Given the description of an element on the screen output the (x, y) to click on. 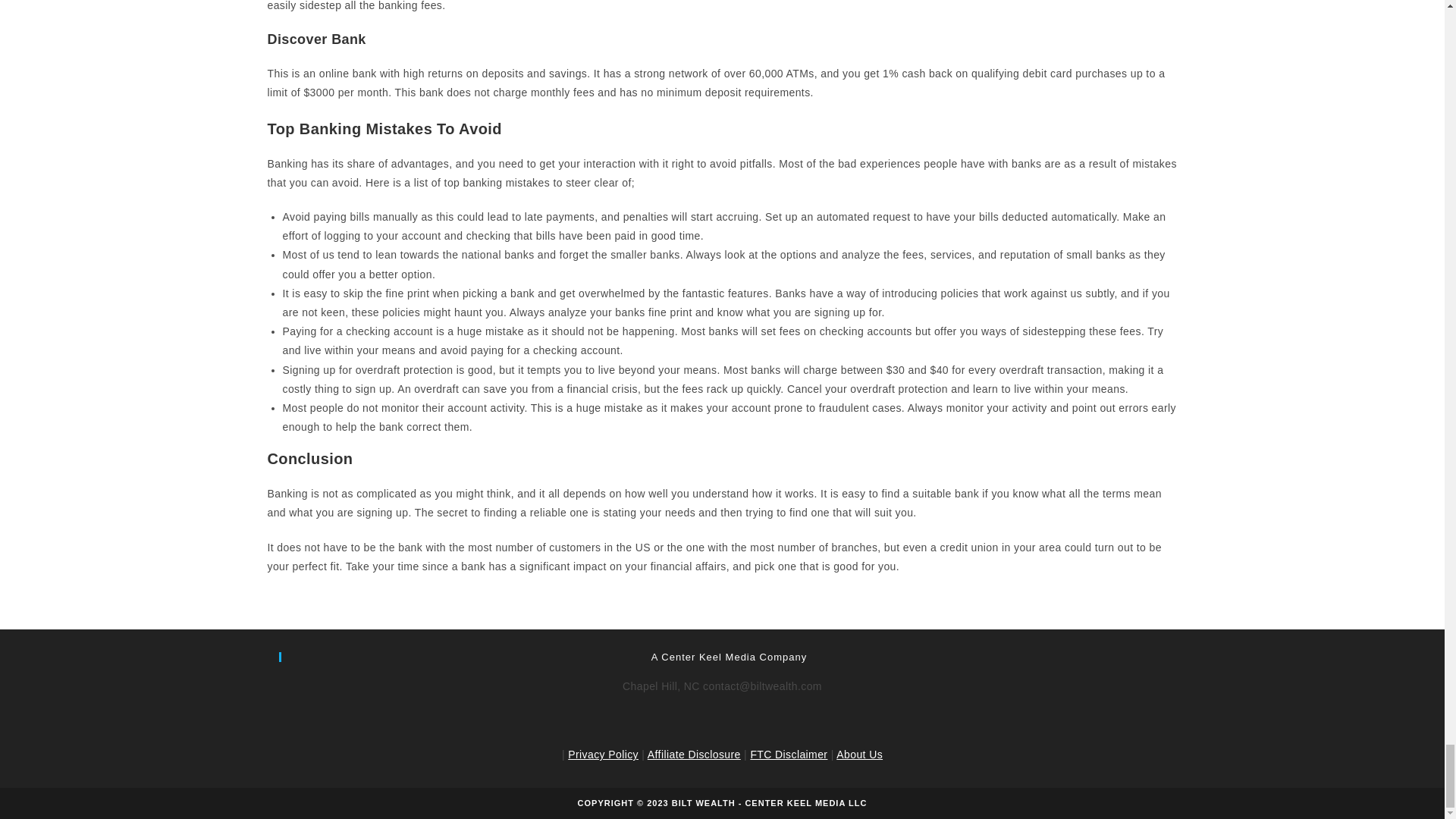
Affiliate Disclosure (694, 754)
Privacy Policy (603, 754)
About Us (858, 754)
FTC Disclaimer (788, 754)
